Given the description of an element on the screen output the (x, y) to click on. 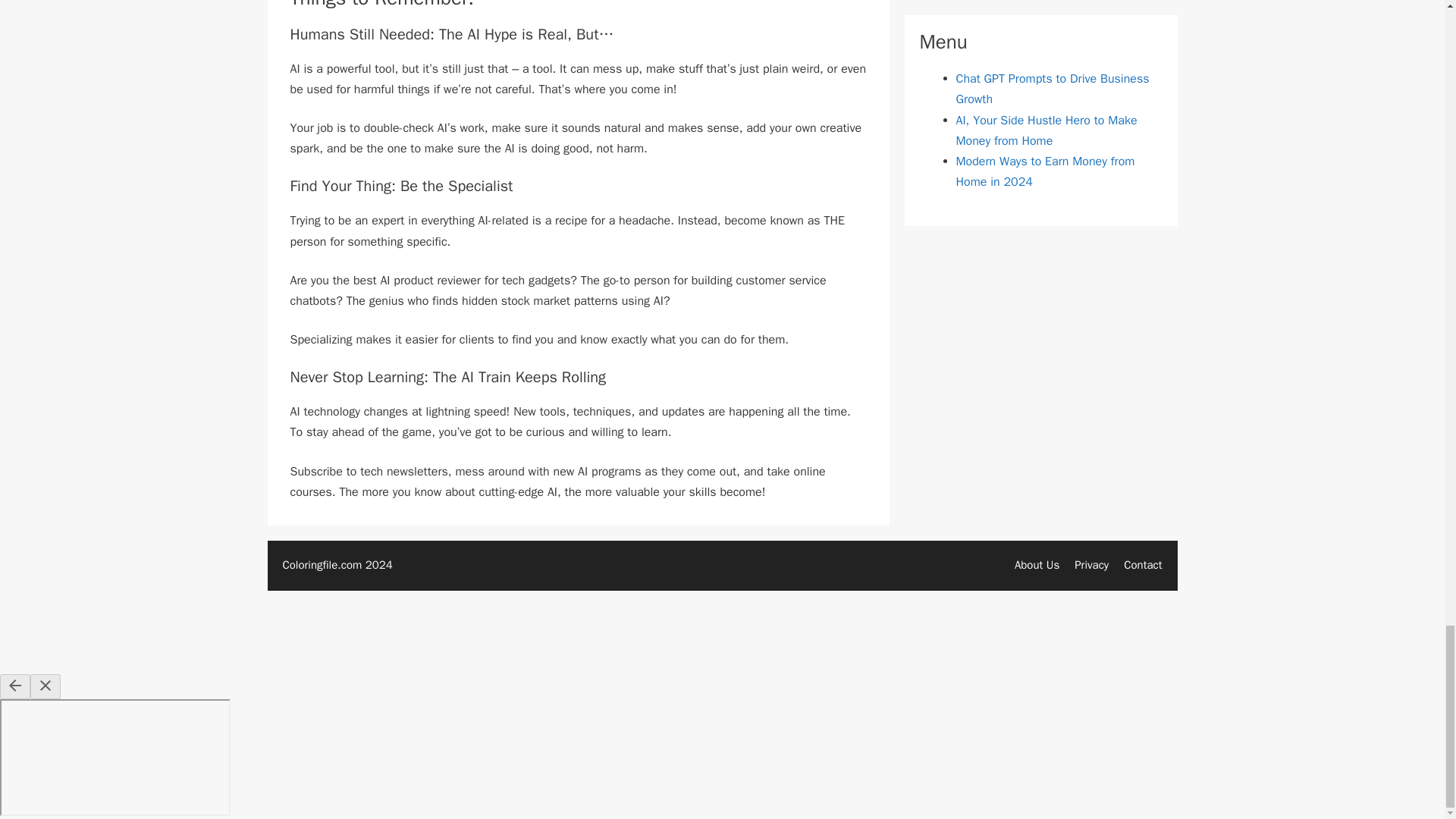
About Us (1036, 564)
Contact (1142, 564)
Privacy (1091, 564)
